Given the description of an element on the screen output the (x, y) to click on. 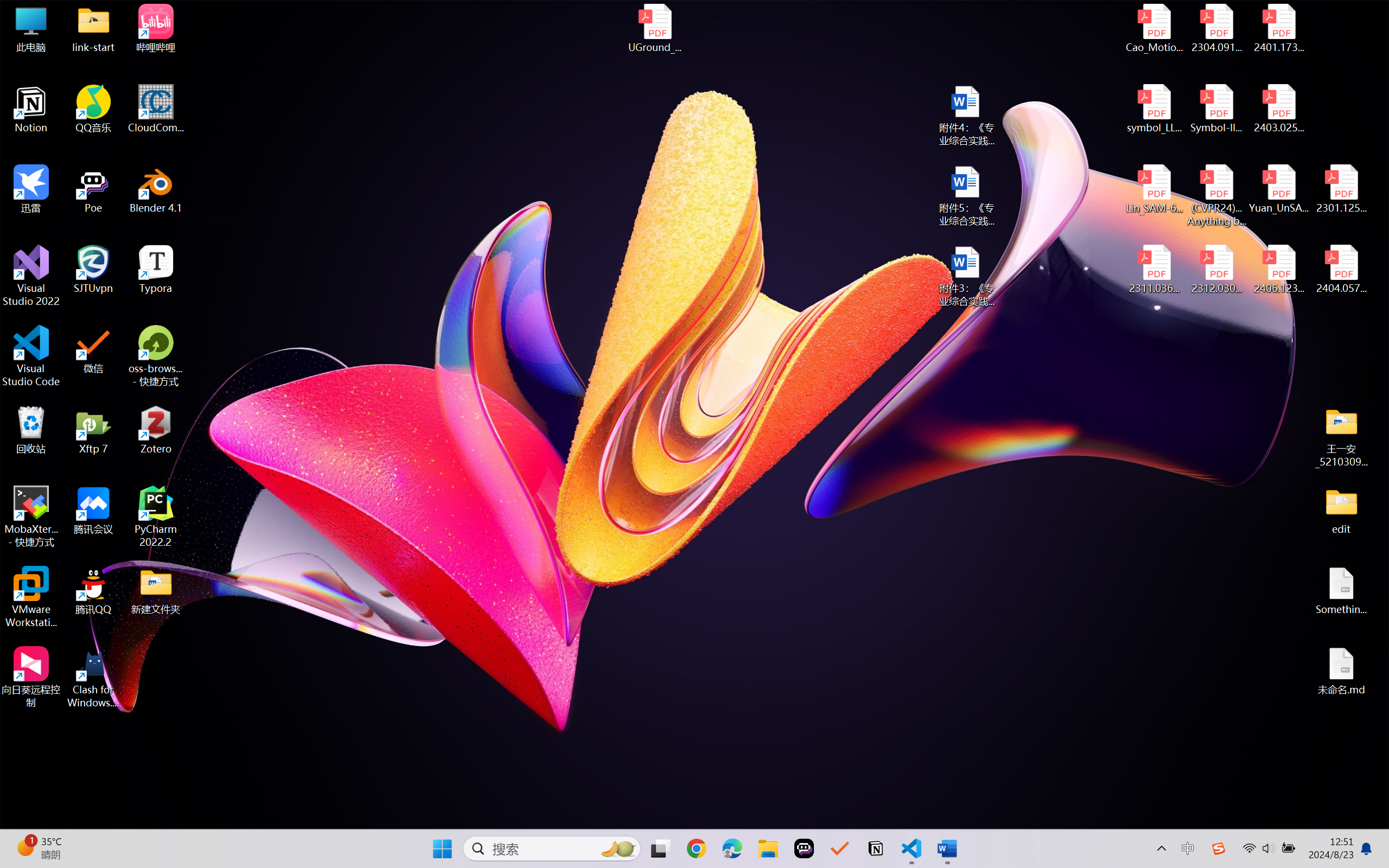
2404.05719v1.pdf (1340, 269)
Something.md (1340, 591)
Blender 4.1 (156, 189)
